Given the description of an element on the screen output the (x, y) to click on. 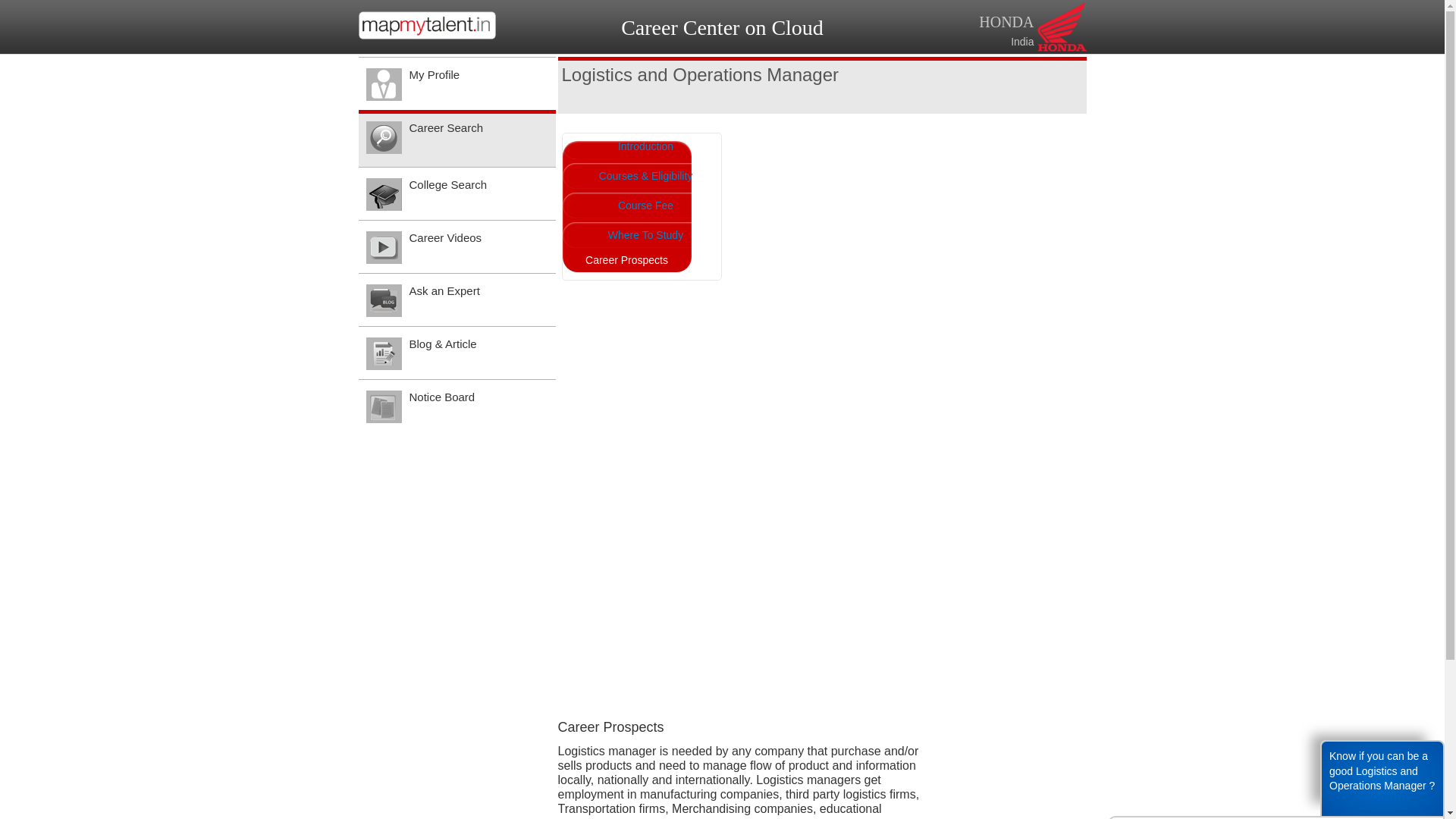
homepage (426, 34)
Ask an Expert (456, 298)
Career Prospects (626, 205)
Course Fee (636, 205)
College Search (456, 193)
Where To Study (636, 234)
Career Search (456, 138)
Career Videos (456, 246)
My Profile (456, 82)
Introduction (636, 145)
